Given the description of an element on the screen output the (x, y) to click on. 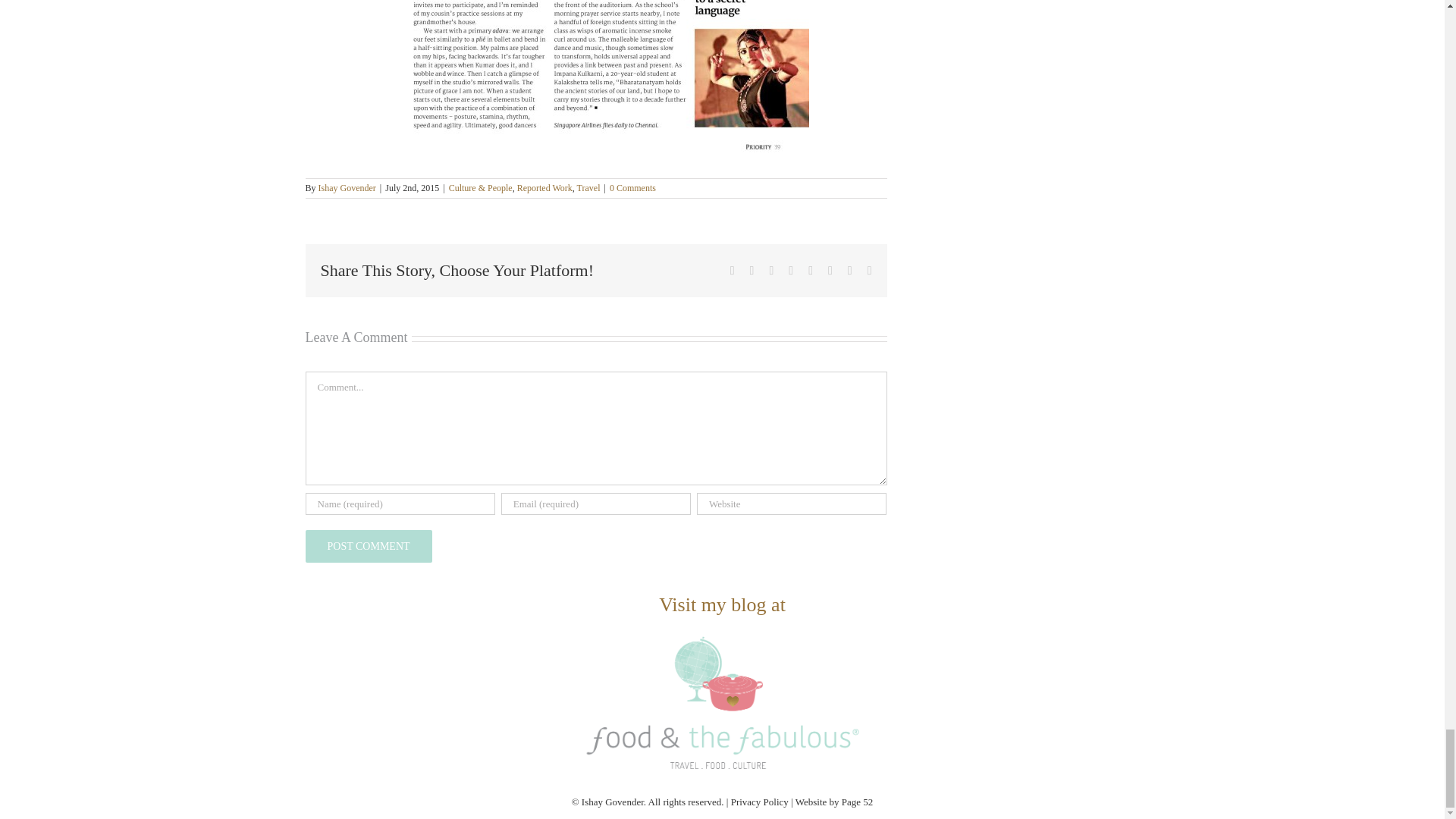
Ishay Govender (346, 187)
Post Comment (367, 545)
Posts by Ishay Govender (346, 187)
0 Comments (633, 187)
Reported Work (544, 187)
Travel (587, 187)
